Given the description of an element on the screen output the (x, y) to click on. 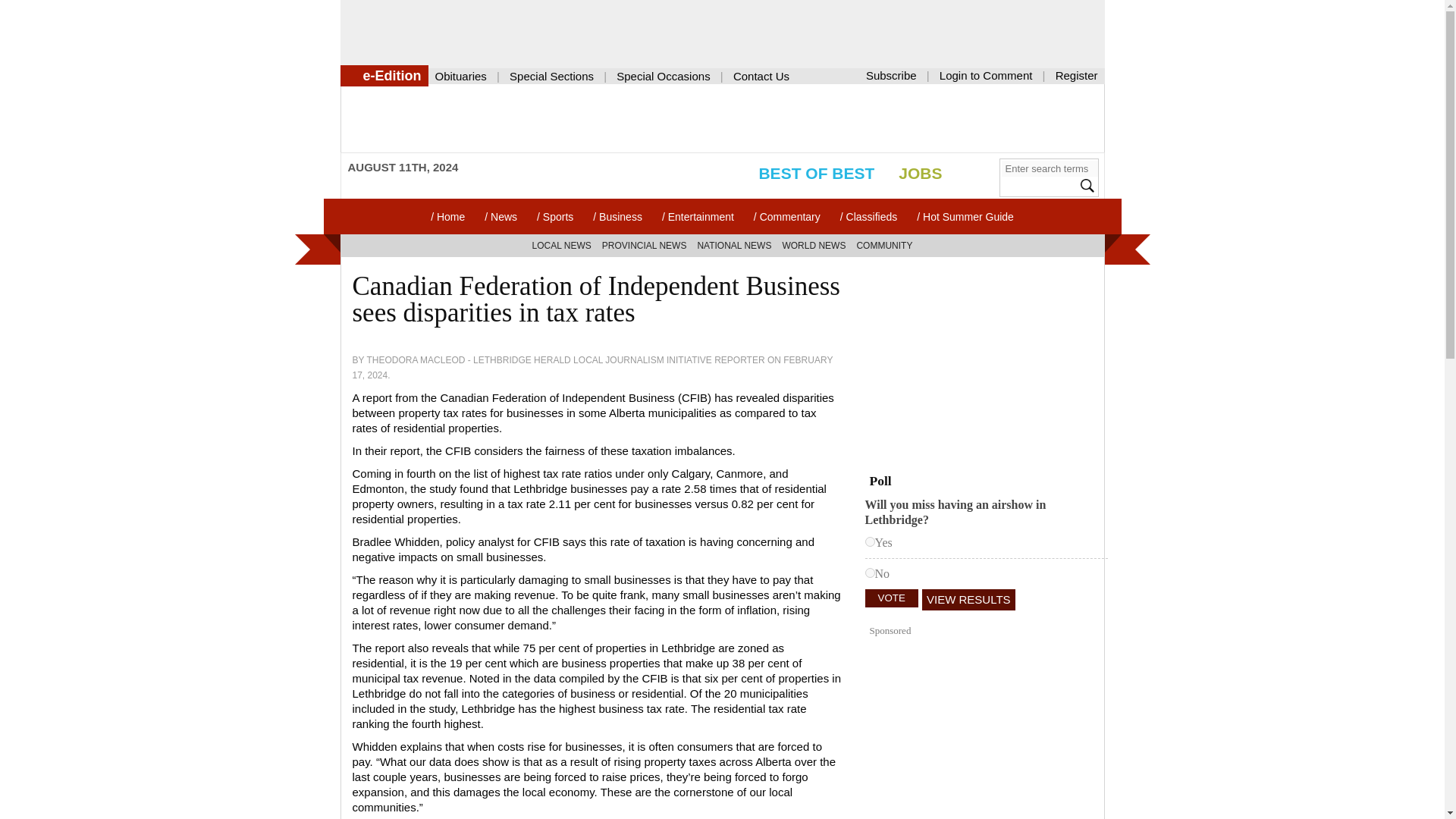
View Results Of This Poll (967, 599)
PROVINCIAL NEWS (644, 245)
News (500, 216)
BEST OF BEST (804, 172)
Home (447, 216)
   Vote    (891, 597)
e-Edition (383, 75)
Sports (555, 216)
